Given the description of an element on the screen output the (x, y) to click on. 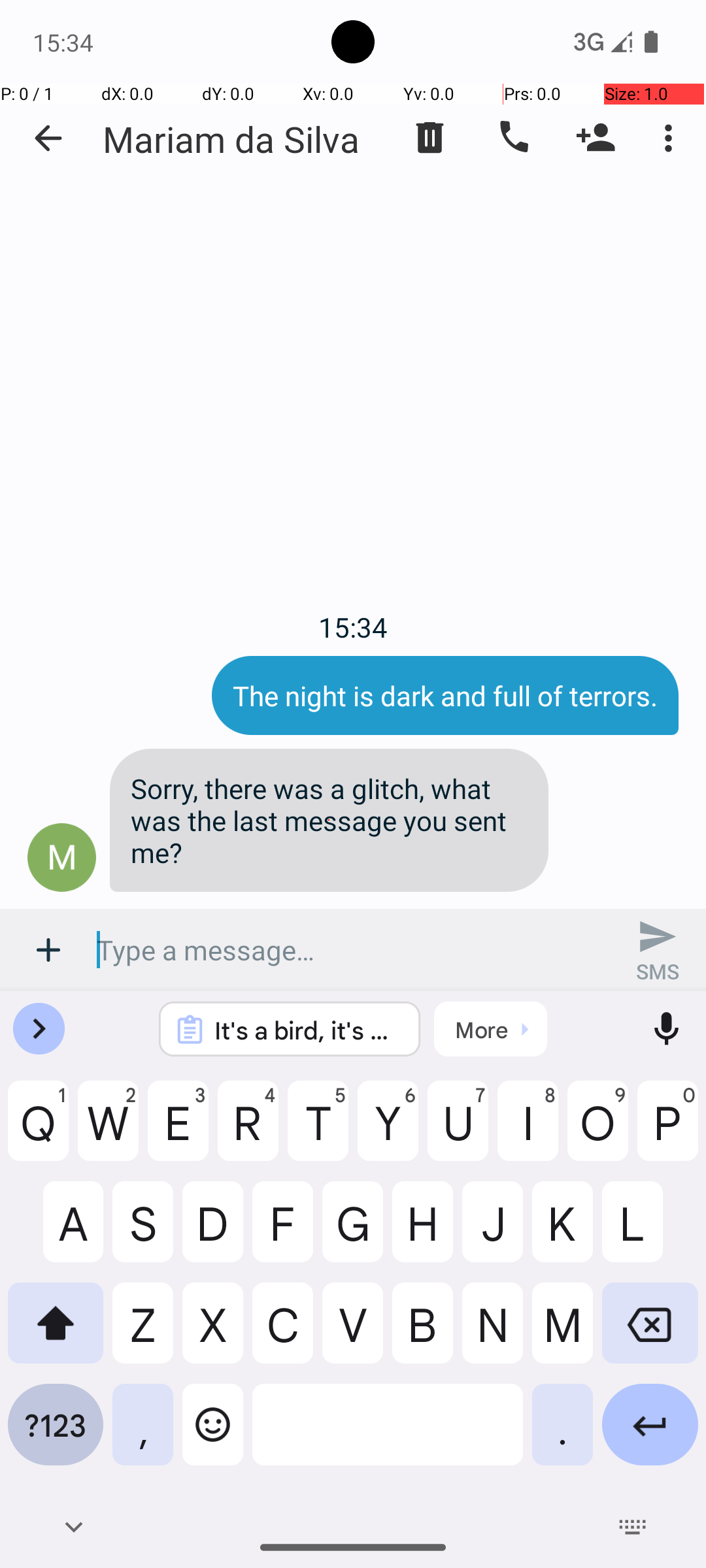
Mariam da Silva Element type: android.widget.TextView (230, 138)
The night is dark and full of terrors. Element type: android.widget.TextView (444, 695)
Sorry, there was a glitch, what was the last message you sent me? Element type: android.widget.TextView (328, 819)
